Given the description of an element on the screen output the (x, y) to click on. 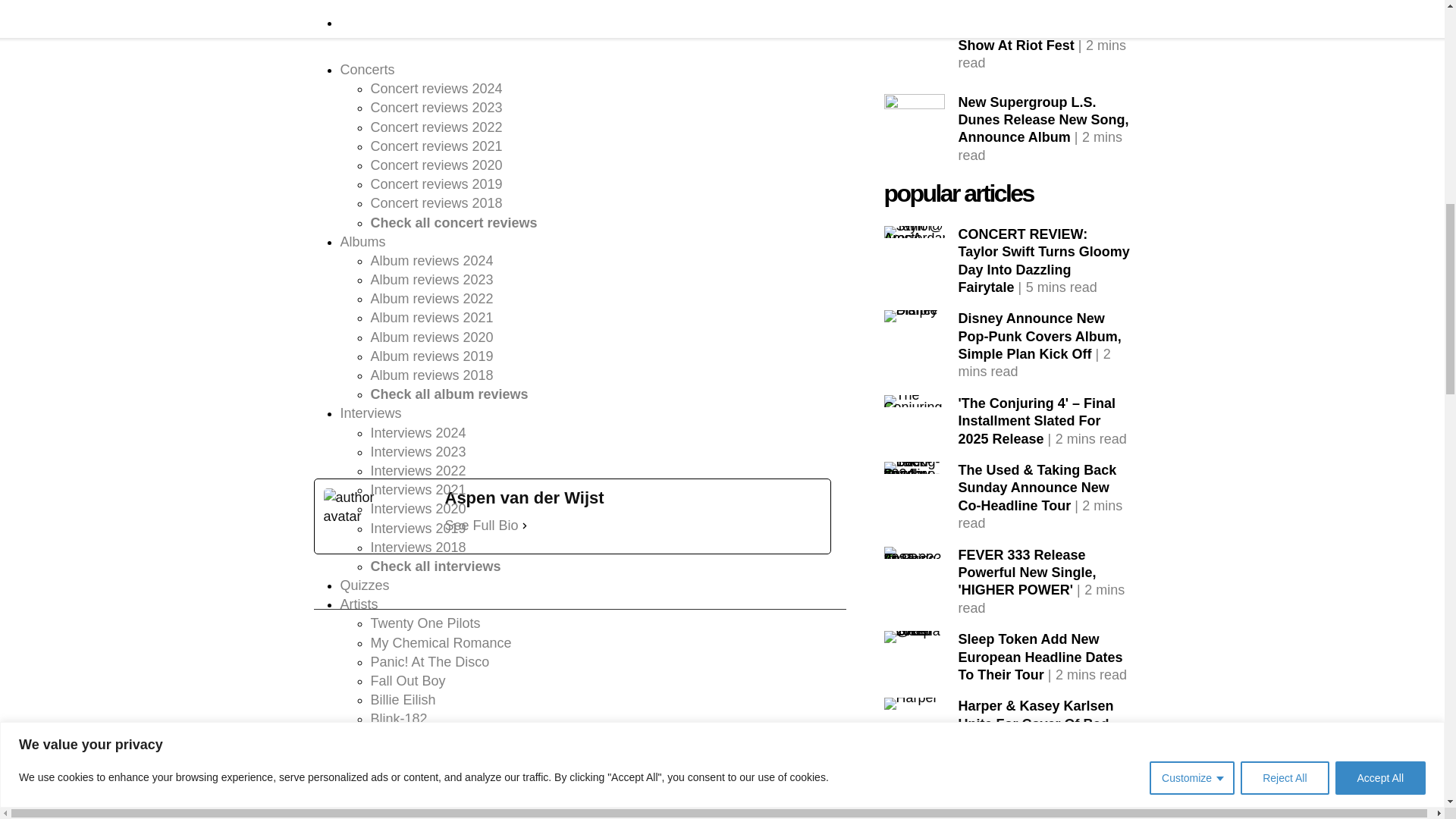
The Conjuring - Strife Mag (913, 400)
L.S. Dunes - Strife Mag (913, 124)
Taylor Swift Amsterdam ArenA-28 - Strife Mag (913, 232)
L.S. Dunes - Strife Mag (913, 2)
Spotify Embed: Benadryl Subreddit (572, 382)
Simple Plan Disney - Strife Mag (913, 316)
Palaye Royale - Strife Mag (913, 788)
Harper - Strife Mag (910, 703)
L.S. Dunes - Strife Mag (913, 49)
